Given the description of an element on the screen output the (x, y) to click on. 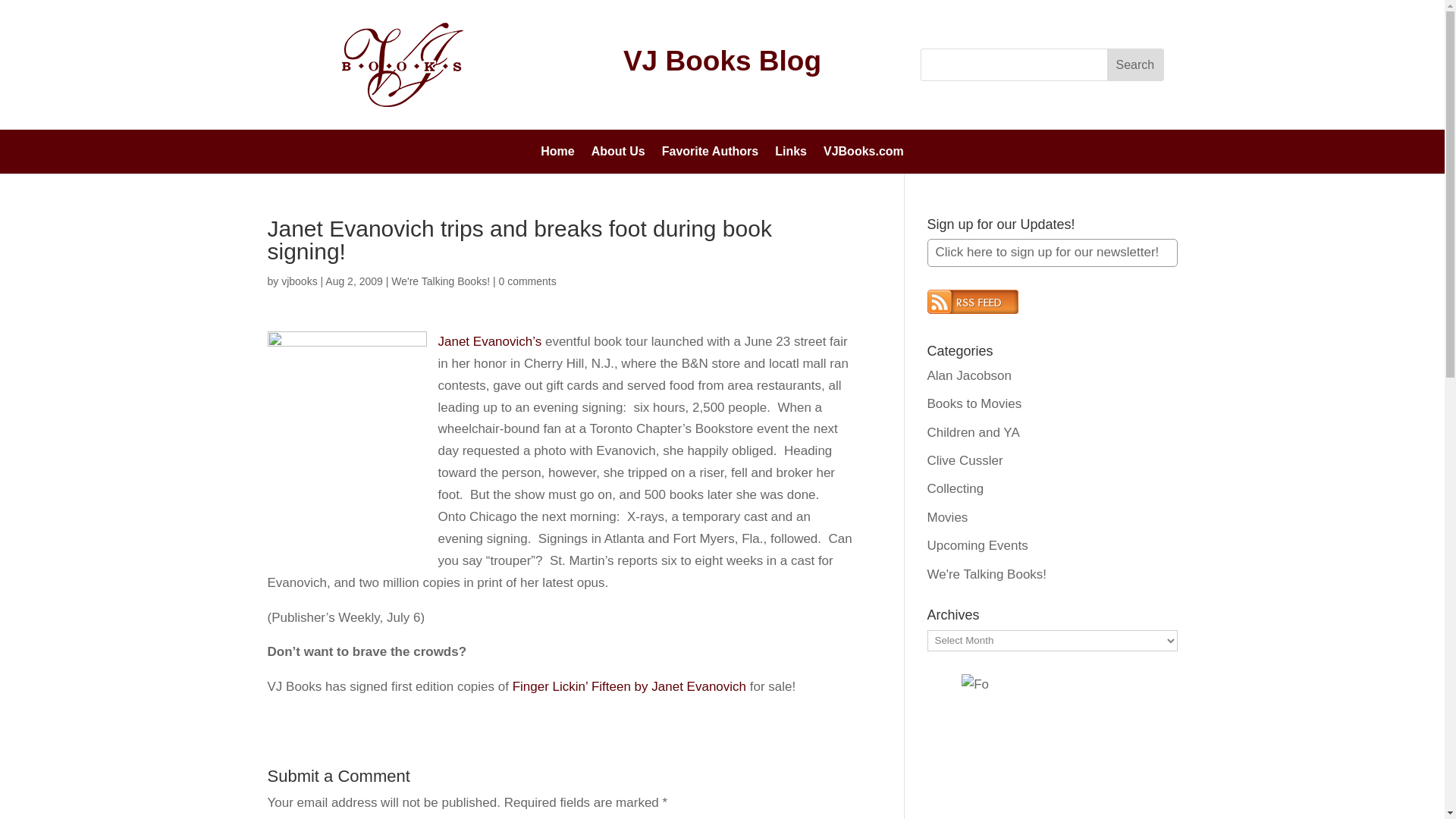
About Us (618, 154)
We're Talking Books! (986, 574)
VJBooks.com (864, 154)
Click here to sign up for our newsletter! (1051, 252)
Janet Evanovich Finger Lickin' Fifteen (628, 686)
Books to Movies (974, 403)
Posts by vjbooks (299, 281)
Alan Jacobson (968, 375)
We're Talking Books! (440, 281)
Janet Evanovich (491, 341)
